Given the description of an element on the screen output the (x, y) to click on. 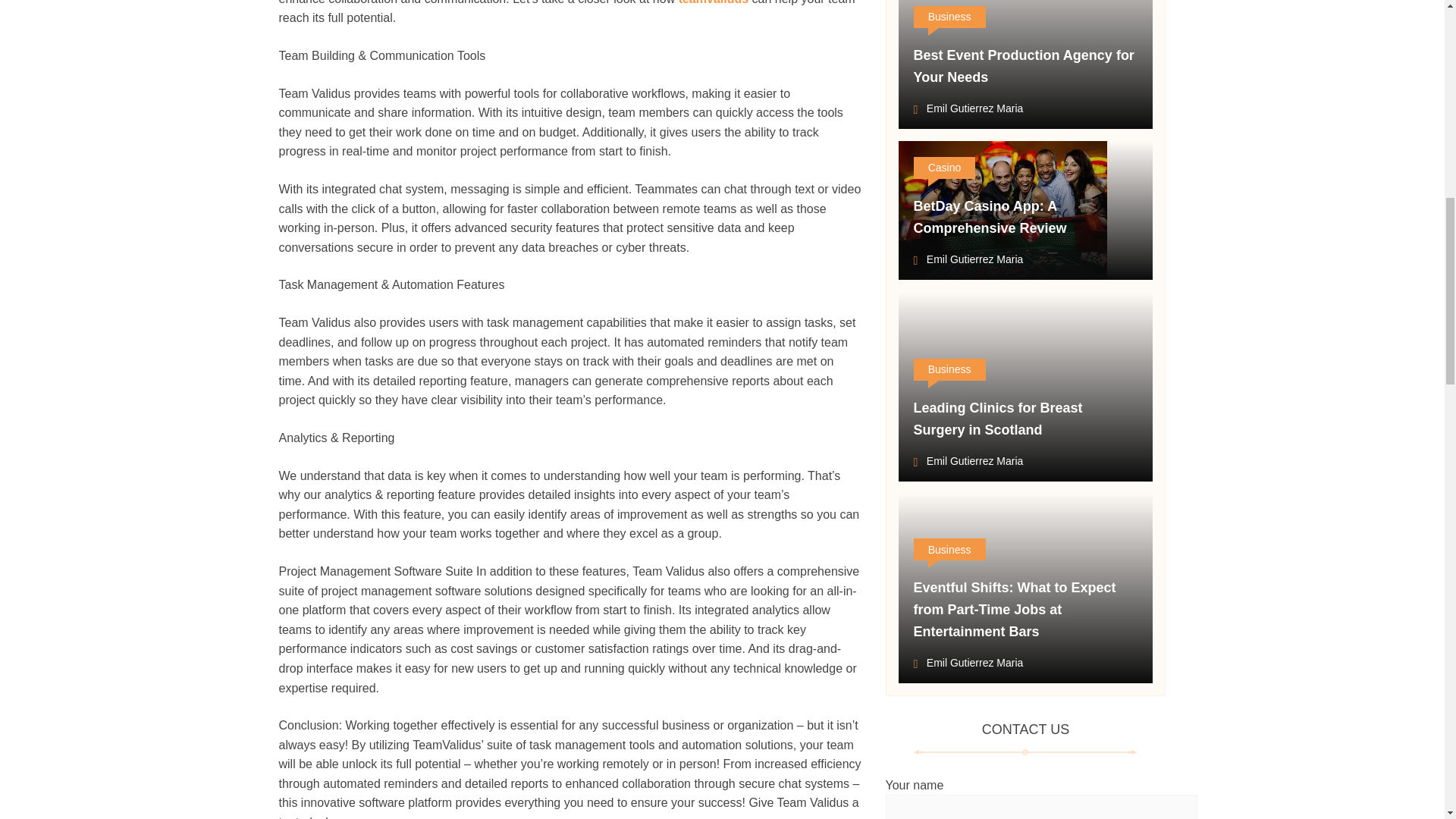
Emil Gutierrez Maria (967, 462)
Best Event Production Agency for Your Needs (1023, 66)
Business (948, 16)
Leading Clinics for Breast Surgery in Scotland (996, 419)
Business (948, 369)
teamvalidus (713, 2)
Emil Gutierrez Maria (967, 109)
Casino (943, 168)
Emil Gutierrez Maria (967, 664)
BetDay Casino App: A Comprehensive Review (988, 217)
Emil Gutierrez Maria (967, 260)
Business (948, 549)
